Given the description of an element on the screen output the (x, y) to click on. 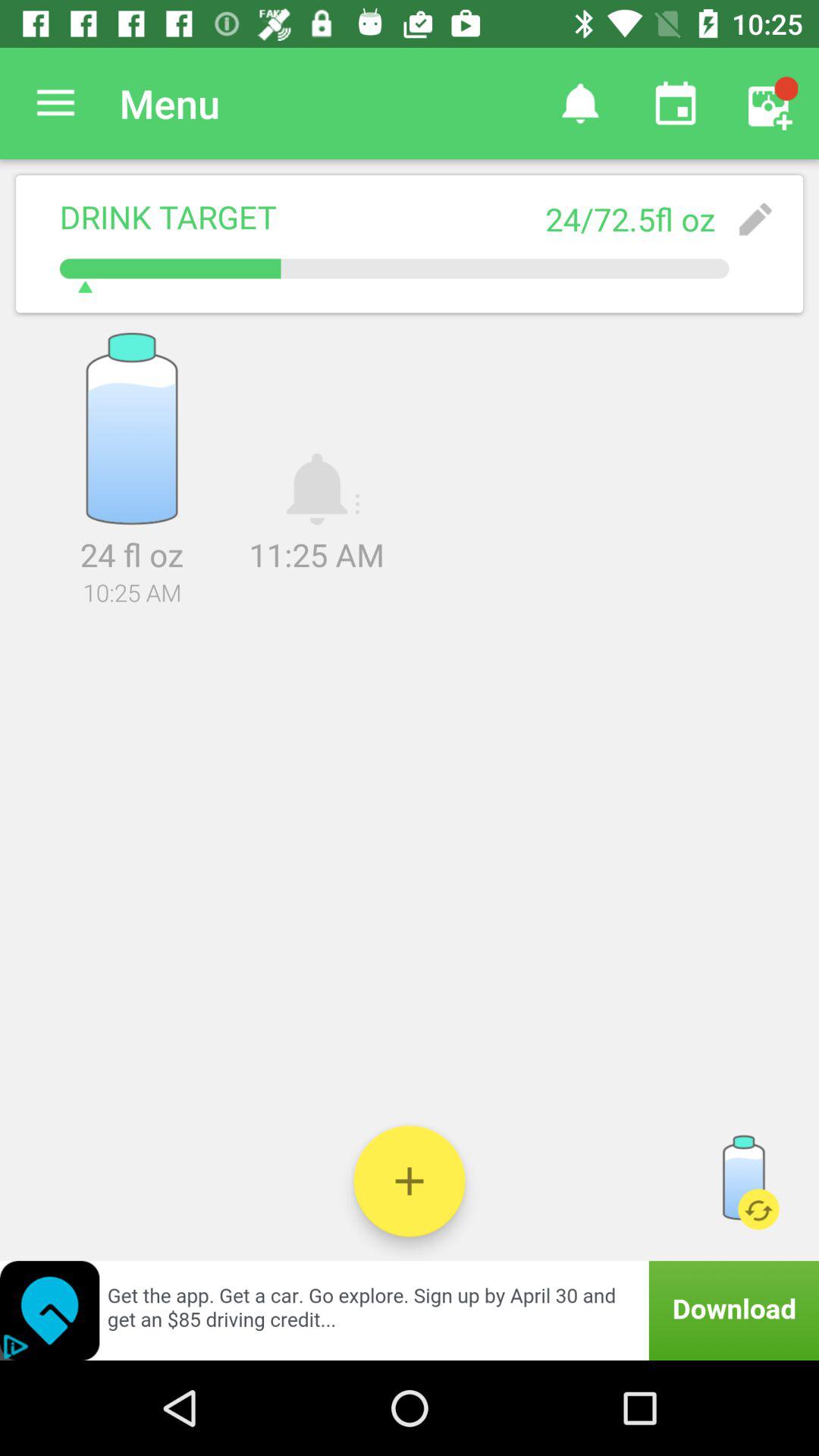
tap icon below the 10:25 am item (409, 714)
